Given the description of an element on the screen output the (x, y) to click on. 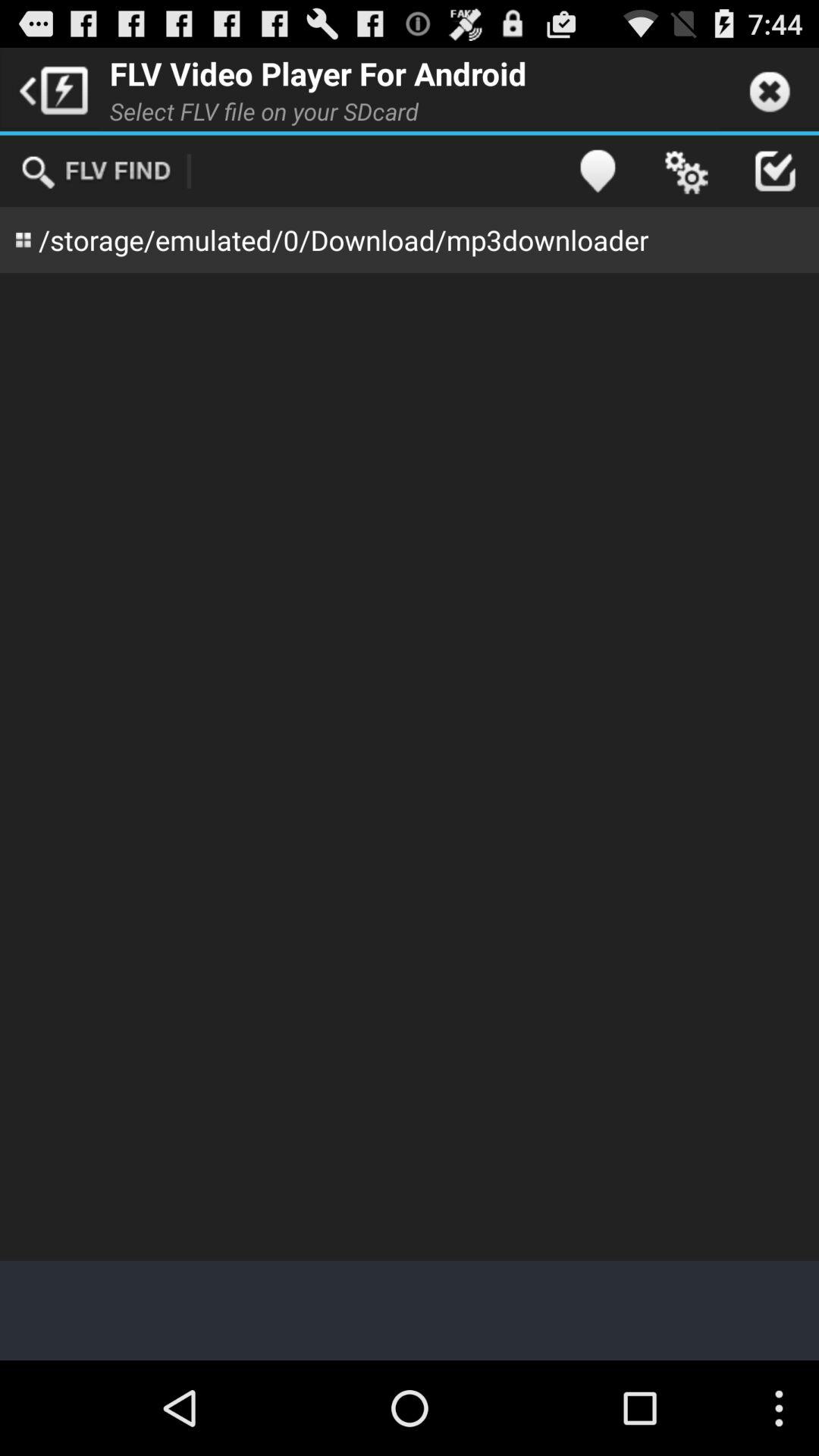
turn on icon above the storage emulated 0 item (95, 171)
